Given the description of an element on the screen output the (x, y) to click on. 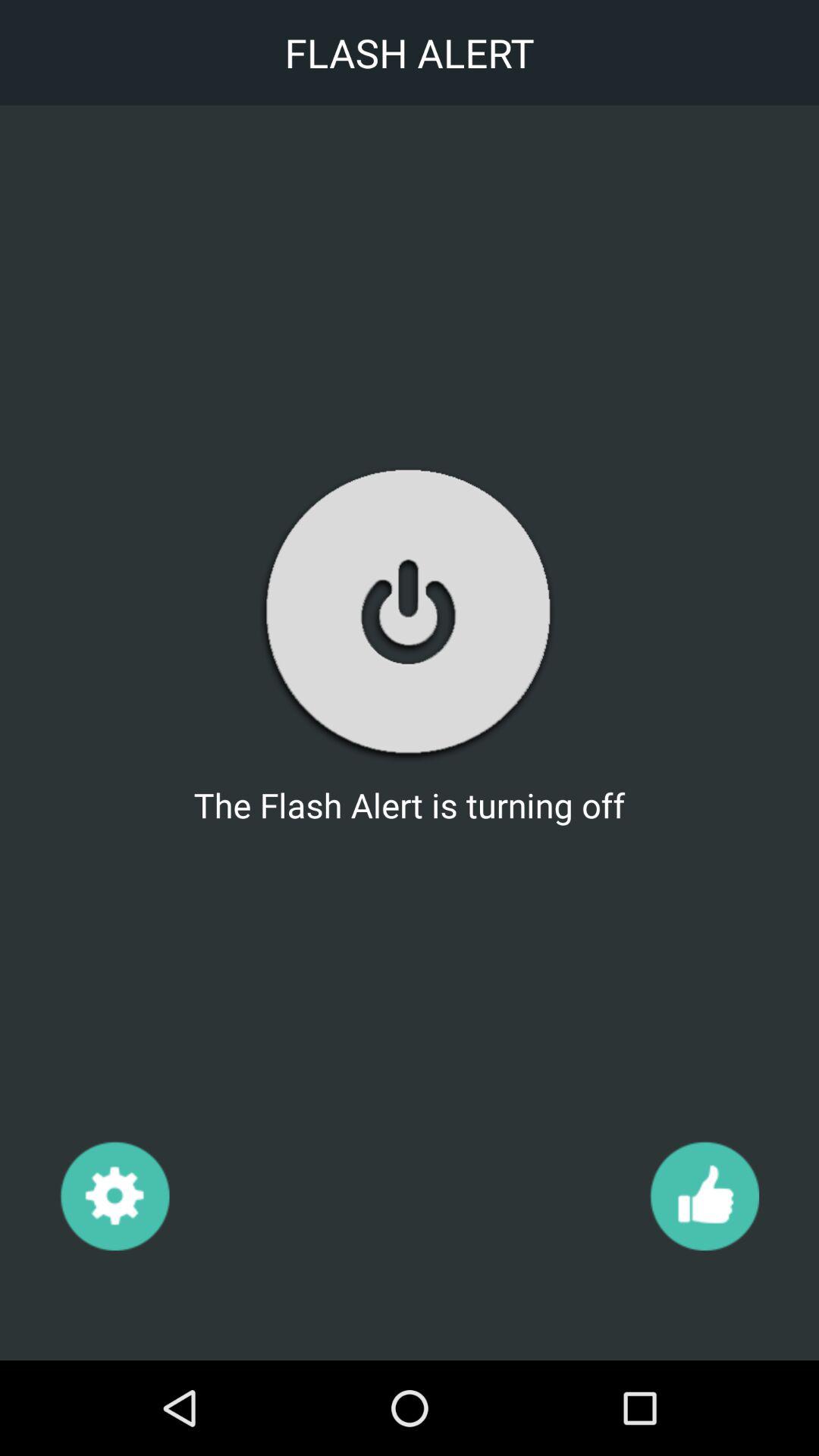
open item above the flash alert icon (409, 612)
